Given the description of an element on the screen output the (x, y) to click on. 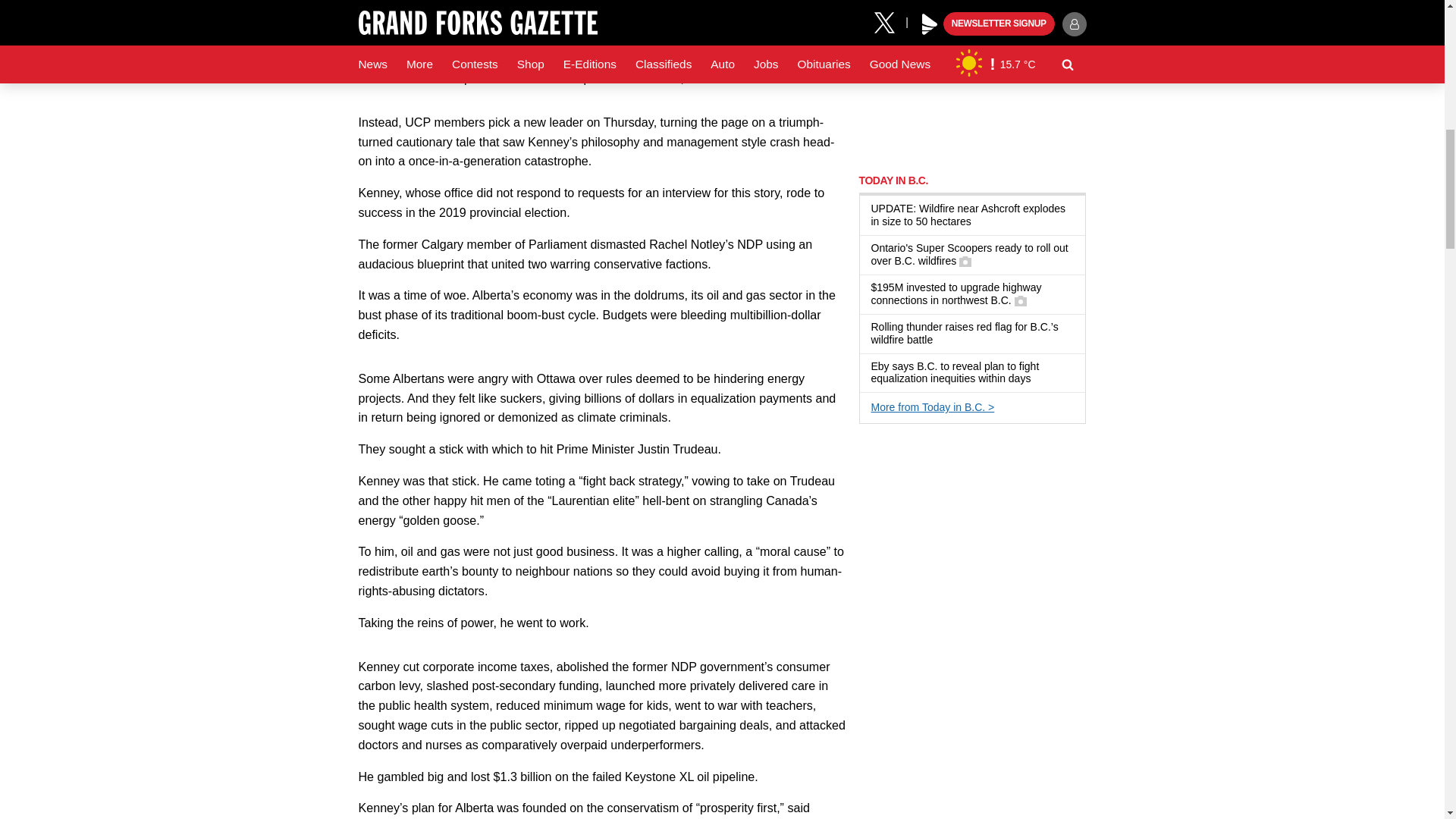
3rd party ad content (972, 533)
3rd party ad content (972, 79)
Has a gallery (1020, 300)
Has a gallery (965, 261)
